Given the description of an element on the screen output the (x, y) to click on. 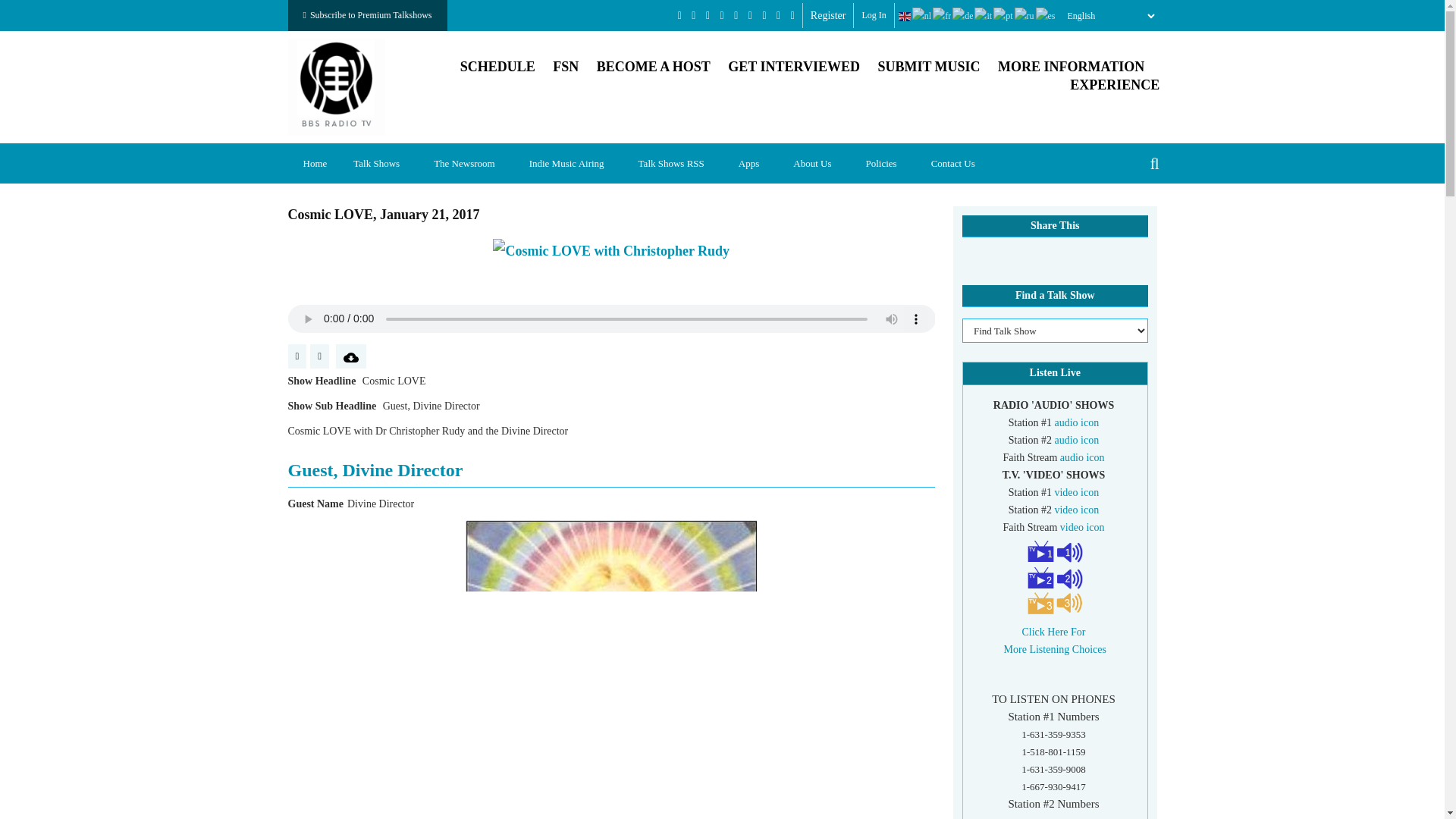
MORE INFORMATION (1070, 66)
Register (827, 15)
Faith Stream Network (565, 66)
Log In (873, 14)
FSN (565, 66)
Home (336, 85)
Subscribe to Premium Talkshows (367, 15)
EXPERIENCE (1114, 84)
The Experience of Live Talk Shows Done Right! (1114, 84)
Divine Director (611, 669)
Home (315, 163)
Italiano (983, 15)
GET INTERVIEWED (794, 66)
SCHEDULE (497, 66)
Cosmic LOVE with Christopher Rudy (611, 250)
